Given the description of an element on the screen output the (x, y) to click on. 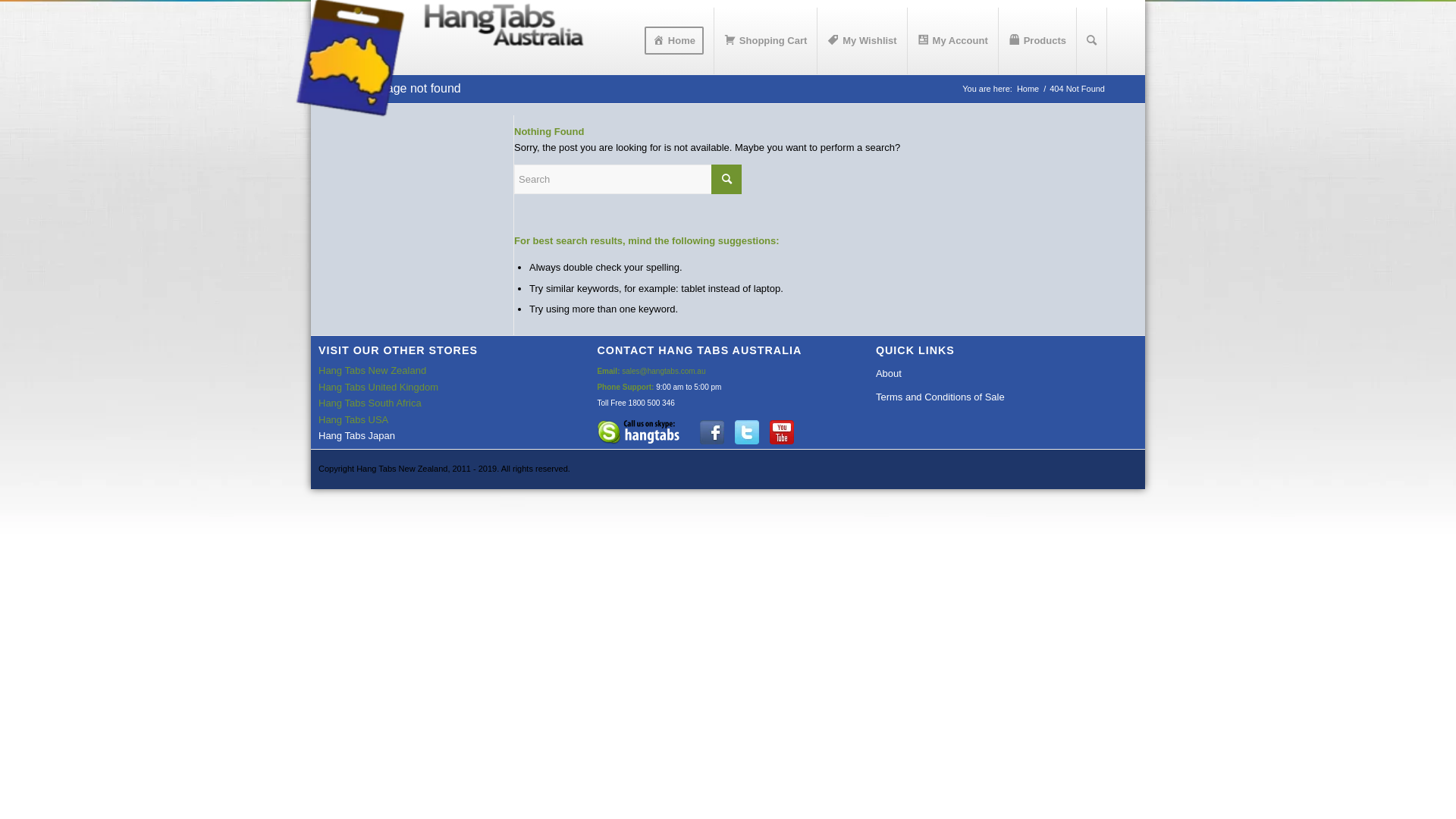
sales@hangtabs.com.au Element type: text (663, 371)
Terms and Conditions of Sale Element type: text (991, 396)
About Element type: text (991, 373)
Hang Tabs South Africa Element type: text (369, 402)
Home Element type: text (673, 40)
Hang Tabs New Zealand Element type: text (372, 370)
My Wishlist Element type: text (861, 40)
Home Element type: text (1027, 88)
Products Element type: text (1037, 40)
Hang Tabs United Kingdom Element type: text (378, 386)
Hang Tabs USA Element type: text (353, 419)
My Account Element type: text (952, 40)
Shopping Cart Element type: text (765, 40)
